Given the description of an element on the screen output the (x, y) to click on. 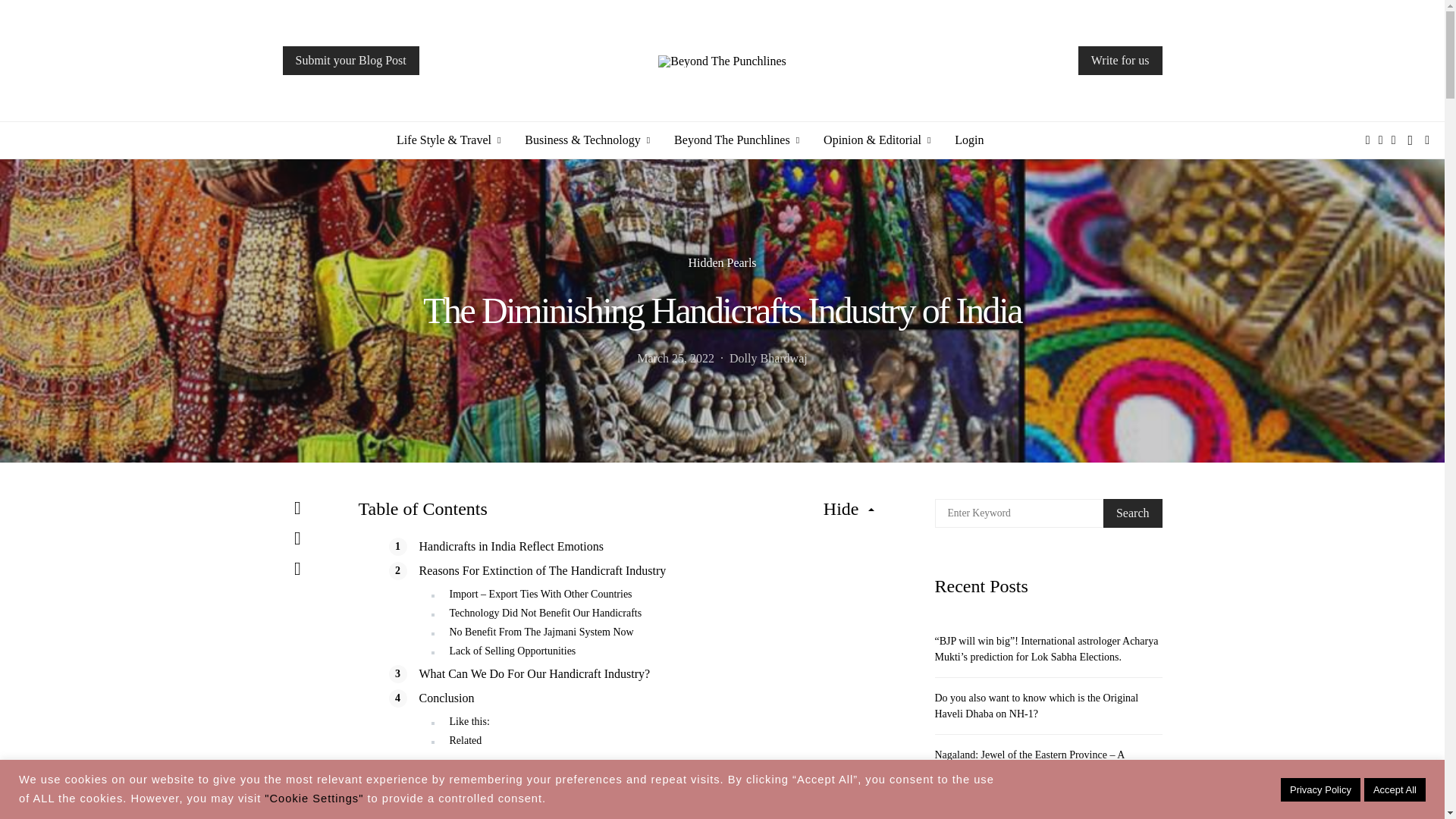
Write for us (1119, 60)
Submit your Blog Post (350, 60)
View all posts by Dolly Bhardwaj (768, 358)
